Given the description of an element on the screen output the (x, y) to click on. 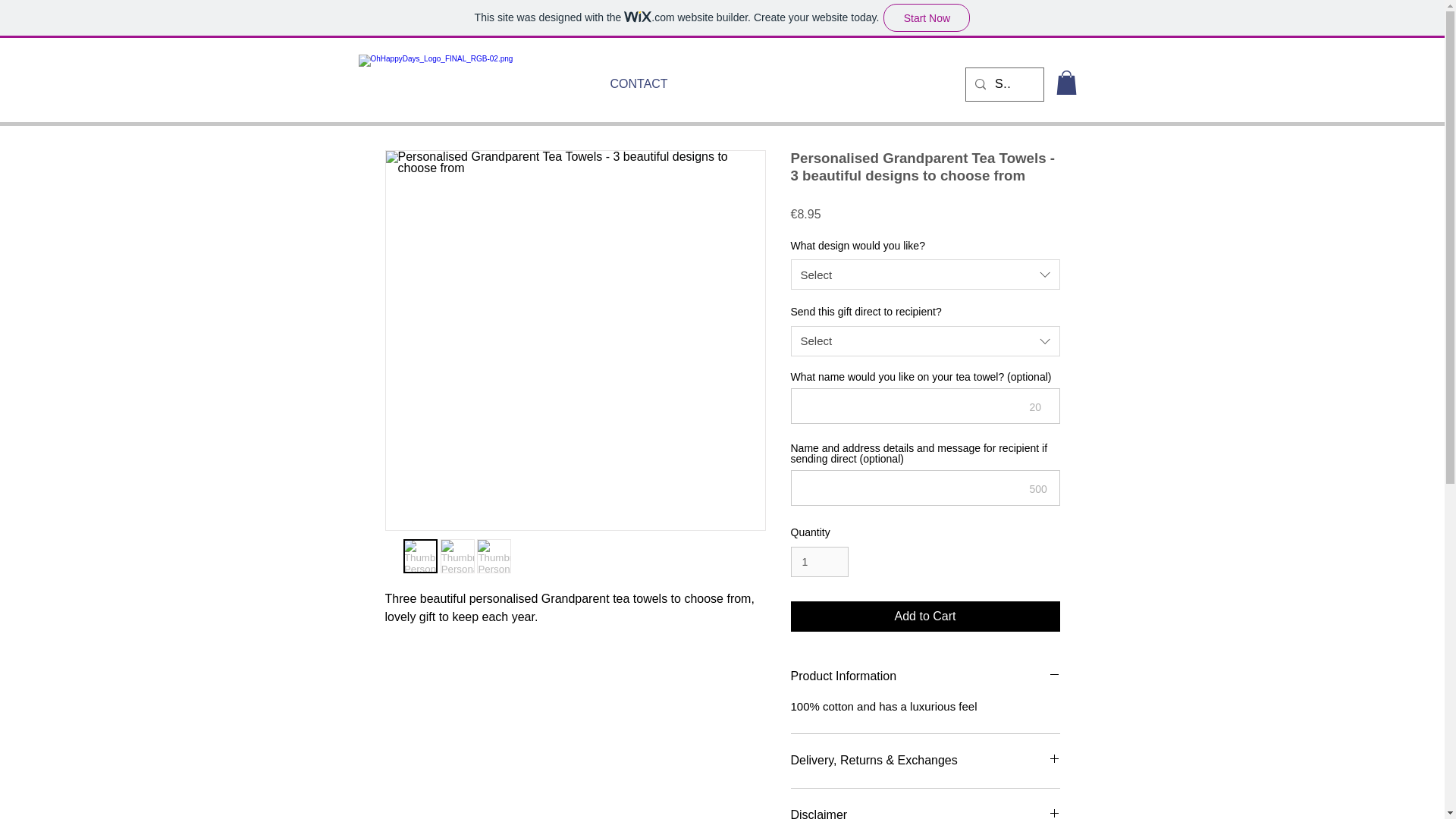
Disclaimer (924, 812)
Add to Cart (924, 616)
Product Information (924, 676)
CONTACT (630, 83)
1 (818, 562)
Select (924, 340)
Select (924, 274)
